Given the description of an element on the screen output the (x, y) to click on. 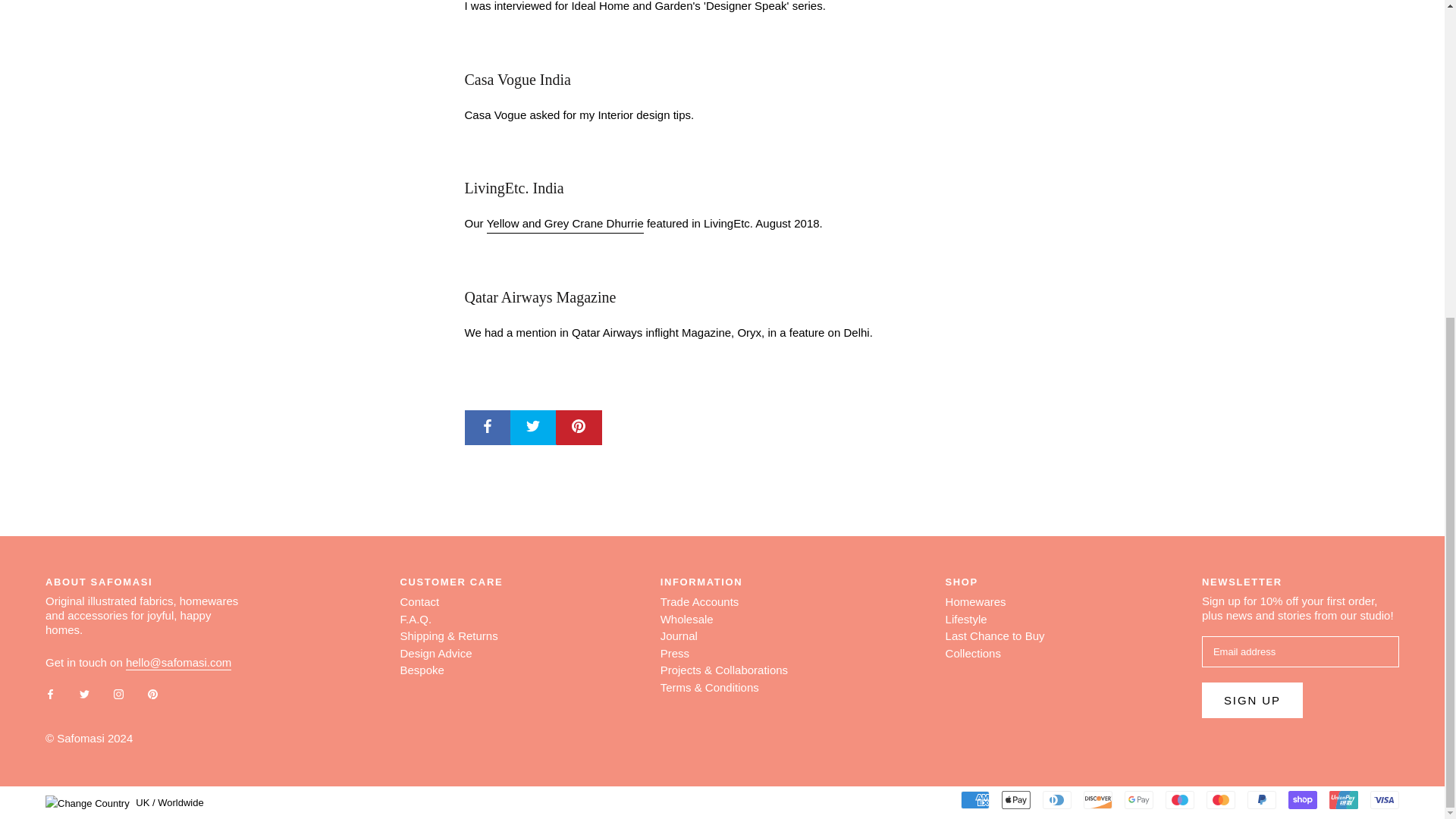
Maestro (1179, 800)
PayPal (1261, 800)
Apple Pay (1015, 800)
American Express (975, 800)
Shop Pay (1302, 800)
Union Pay (1343, 800)
Diners Club (1056, 800)
Safomasi Rugs (564, 223)
Google Pay (1138, 800)
Mastercard (1220, 800)
Discover (1097, 800)
Visa (1384, 800)
